Given the description of an element on the screen output the (x, y) to click on. 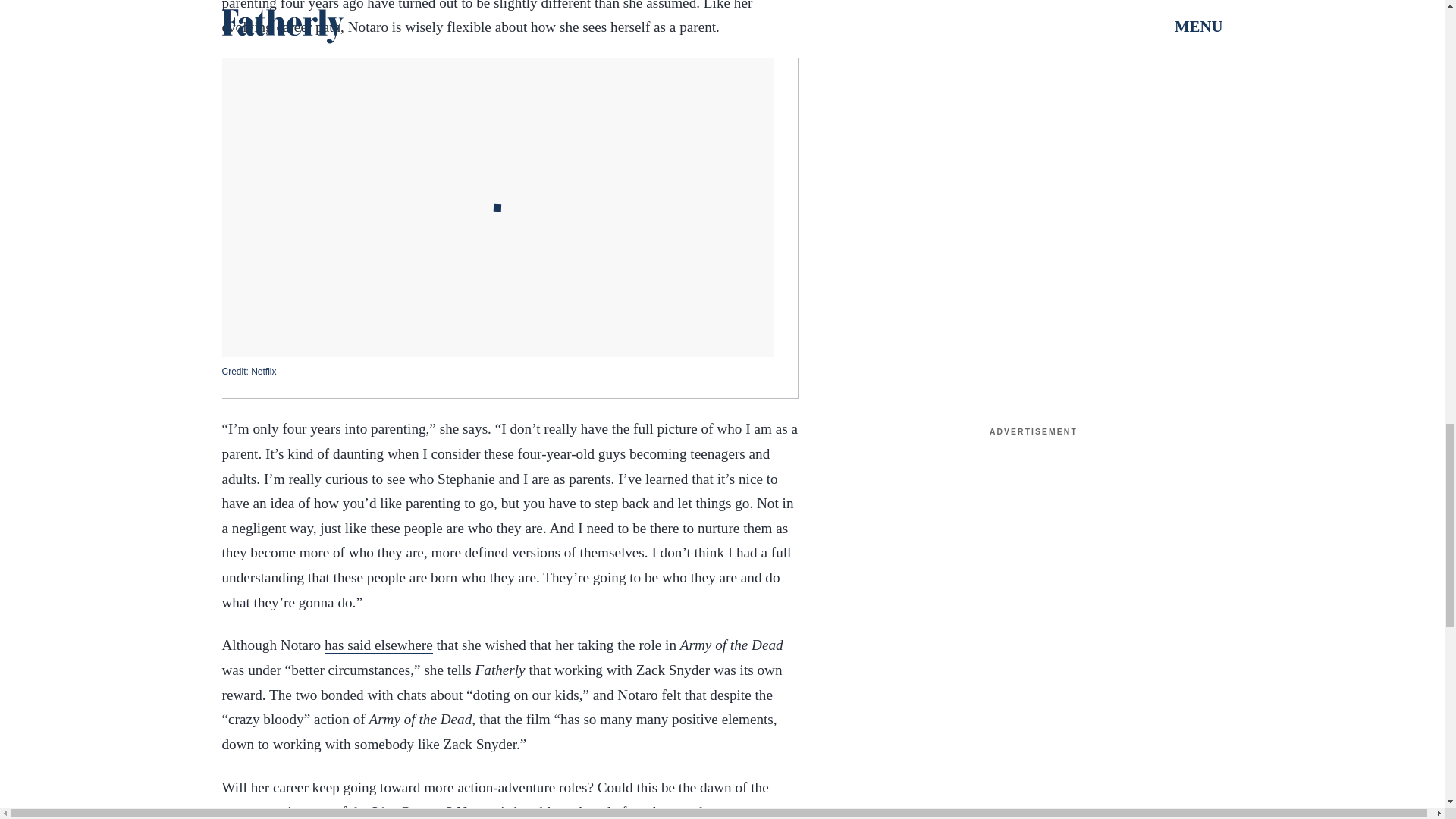
has said elsewhere (378, 645)
